Given the description of an element on the screen output the (x, y) to click on. 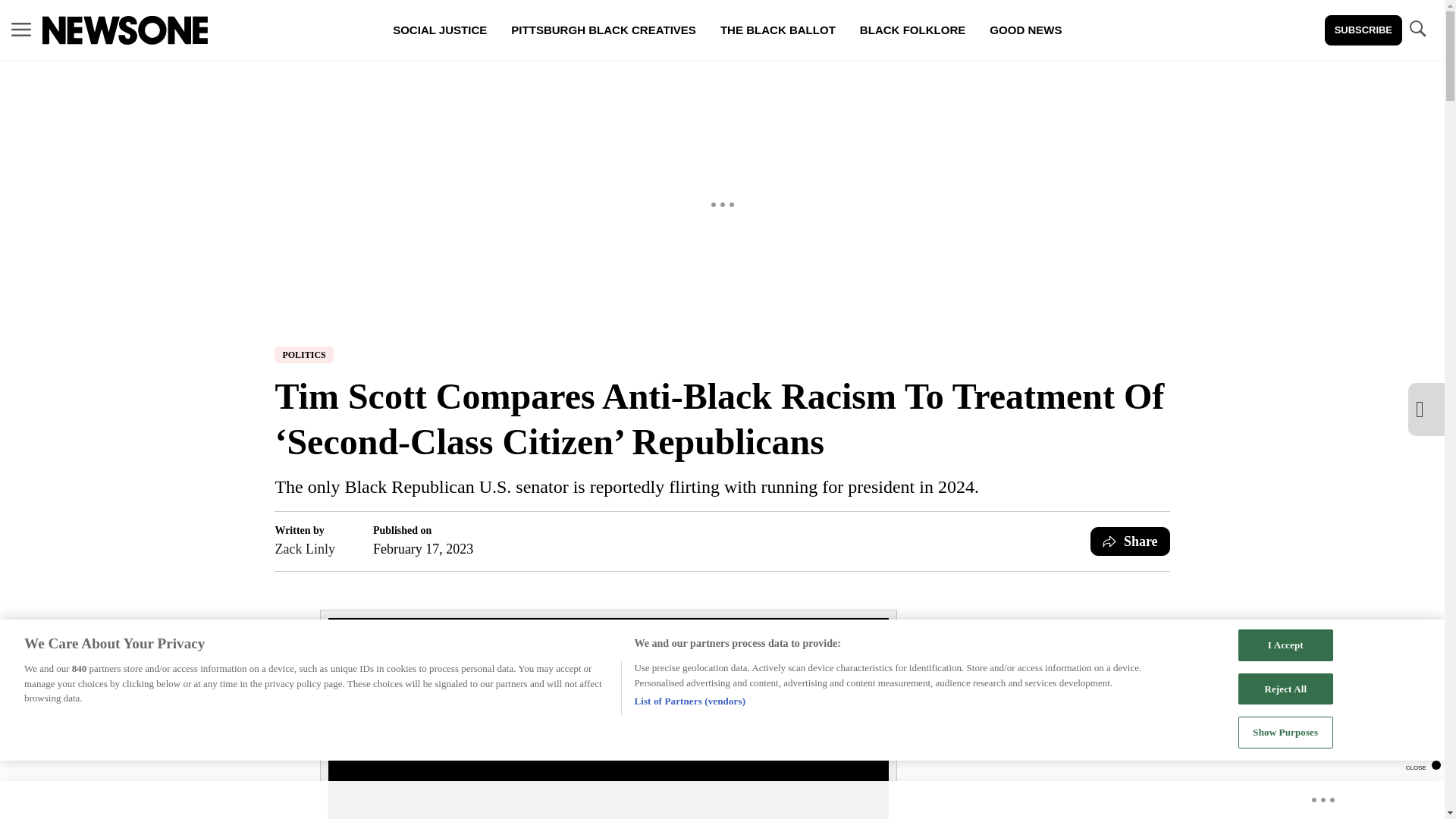
THE BLACK BALLOT (777, 30)
TOGGLE SEARCH (1417, 28)
SOCIAL JUSTICE (439, 30)
POLITICS (304, 354)
Share (1130, 541)
MENU (20, 29)
GOOD NEWS (1025, 30)
TOGGLE SEARCH (1417, 30)
MENU (20, 30)
PITTSBURGH BLACK CREATIVES (603, 30)
BLACK FOLKLORE (911, 30)
Zack Linly (304, 548)
SUBSCRIBE (1363, 30)
